Given the description of an element on the screen output the (x, y) to click on. 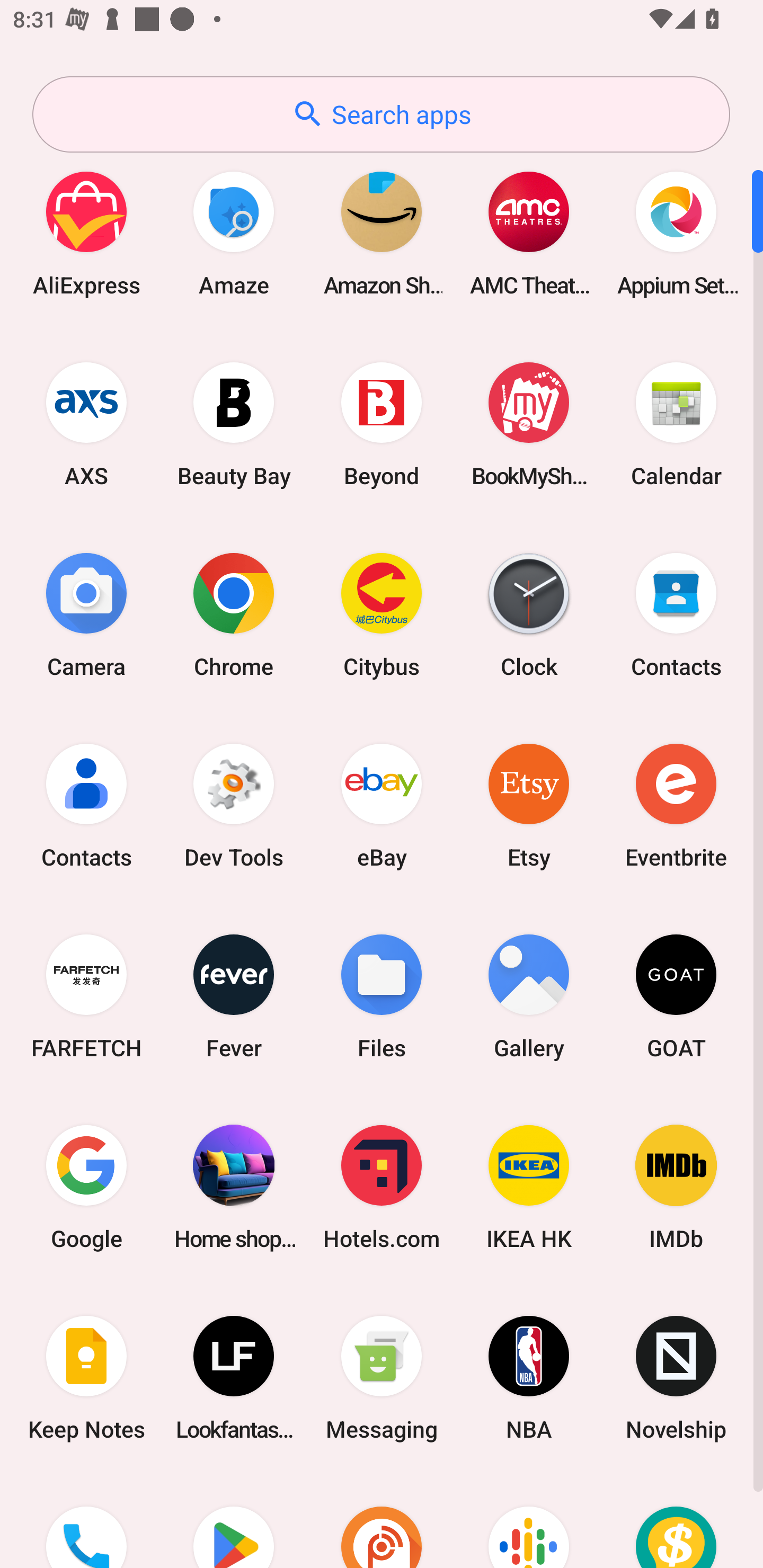
  Search apps (381, 114)
AliExpress (86, 233)
Amaze (233, 233)
Amazon Shopping (381, 233)
AMC Theatres (528, 233)
Appium Settings (676, 233)
AXS (86, 424)
Beauty Bay (233, 424)
Beyond (381, 424)
BookMyShow (528, 424)
Calendar (676, 424)
Camera (86, 614)
Chrome (233, 614)
Citybus (381, 614)
Clock (528, 614)
Contacts (676, 614)
Contacts (86, 805)
Dev Tools (233, 805)
eBay (381, 805)
Etsy (528, 805)
Eventbrite (676, 805)
FARFETCH (86, 996)
Fever (233, 996)
Files (381, 996)
Gallery (528, 996)
GOAT (676, 996)
Google (86, 1186)
Home shopping (233, 1186)
Hotels.com (381, 1186)
IKEA HK (528, 1186)
IMDb (676, 1186)
Keep Notes (86, 1377)
Lookfantastic (233, 1377)
Messaging (381, 1377)
NBA (528, 1377)
Novelship (676, 1377)
Phone (86, 1520)
Play Store (233, 1520)
Podcast Addict (381, 1520)
Podcasts (528, 1520)
Price (676, 1520)
